Given the description of an element on the screen output the (x, y) to click on. 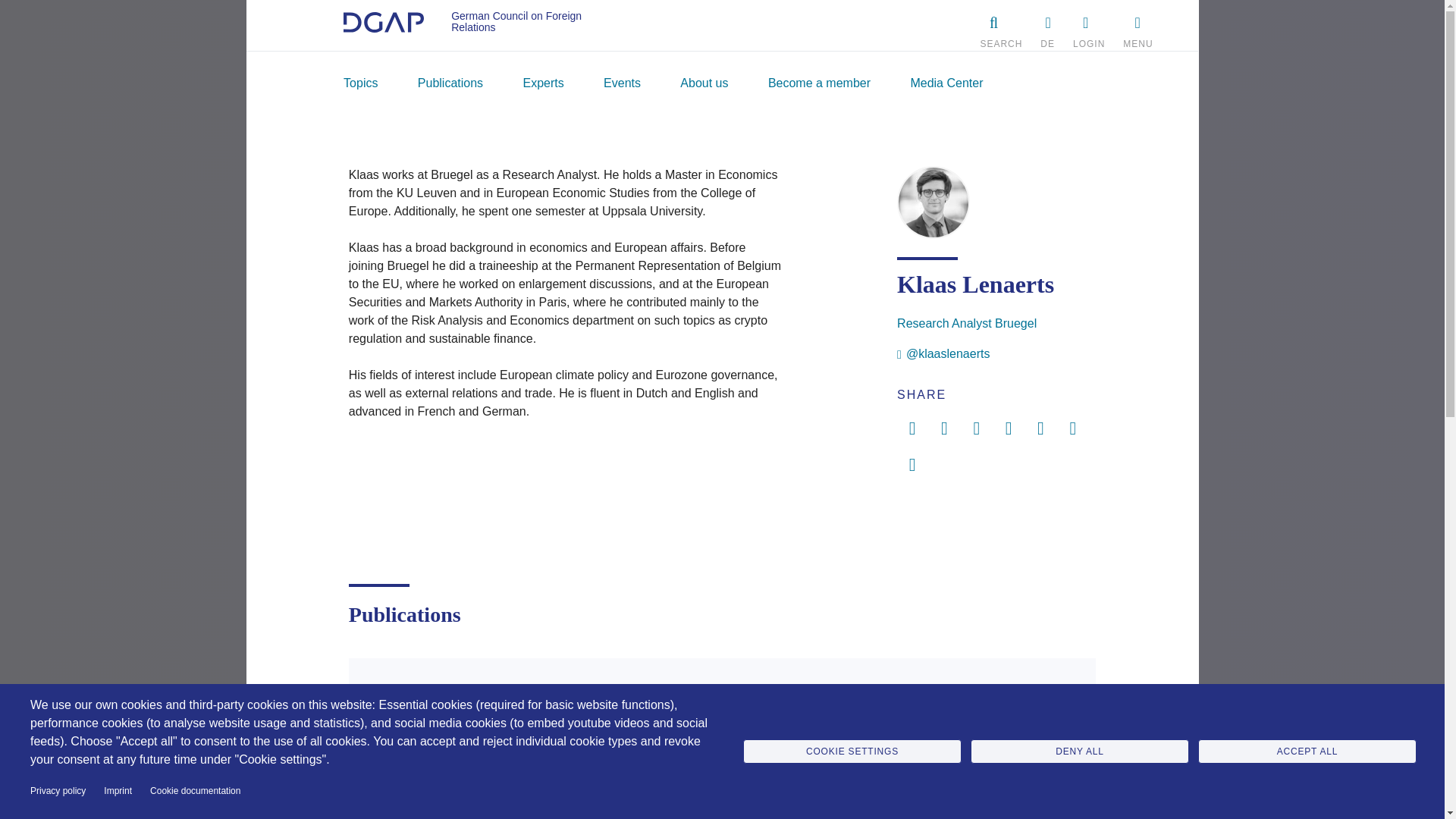
Privacy policy (57, 791)
Imprint (117, 791)
print (911, 465)
Save to Pocket (911, 429)
Cookie documentation (194, 791)
Home (383, 25)
